Given the description of an element on the screen output the (x, y) to click on. 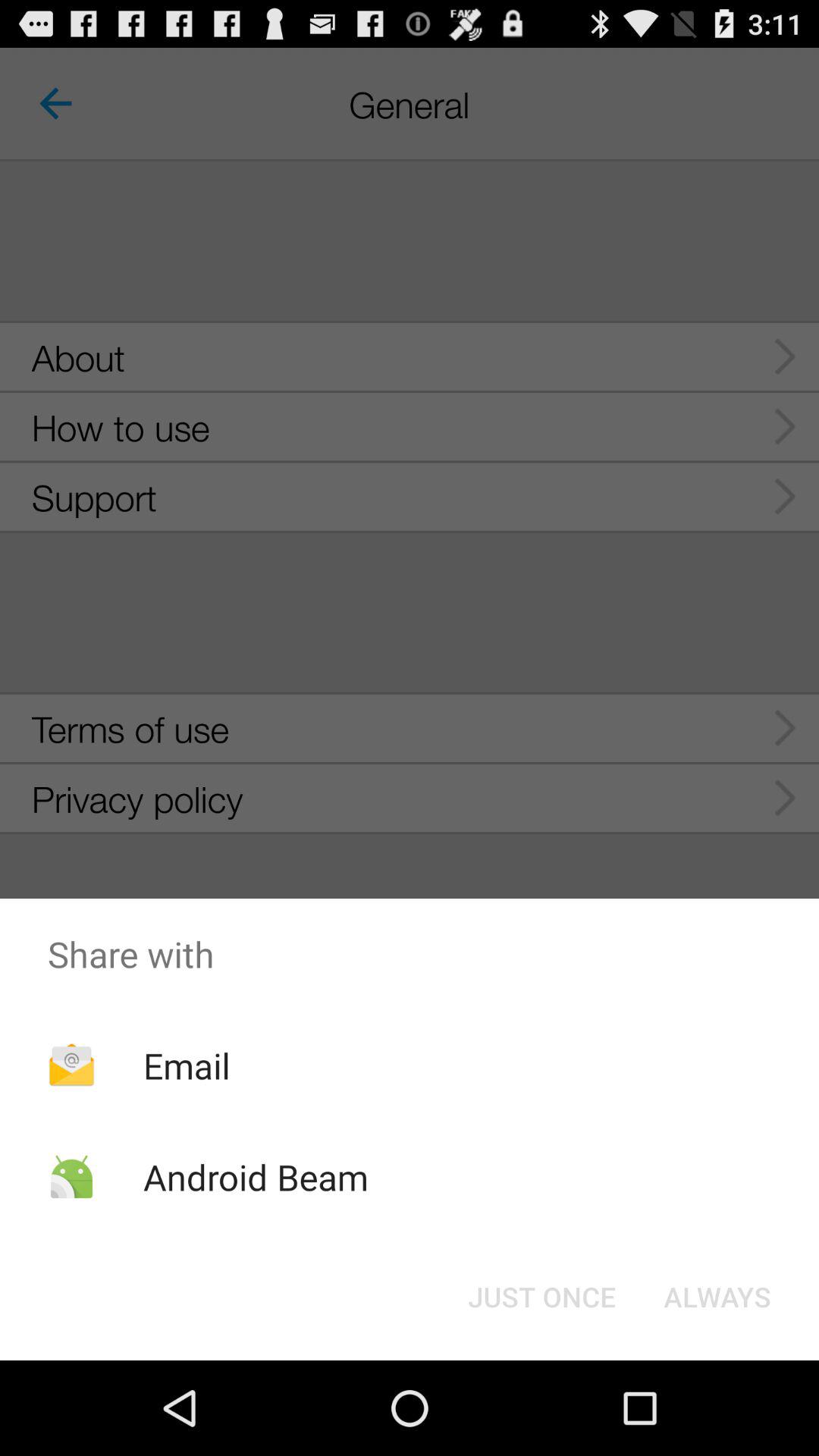
open item next to the just once button (717, 1296)
